Given the description of an element on the screen output the (x, y) to click on. 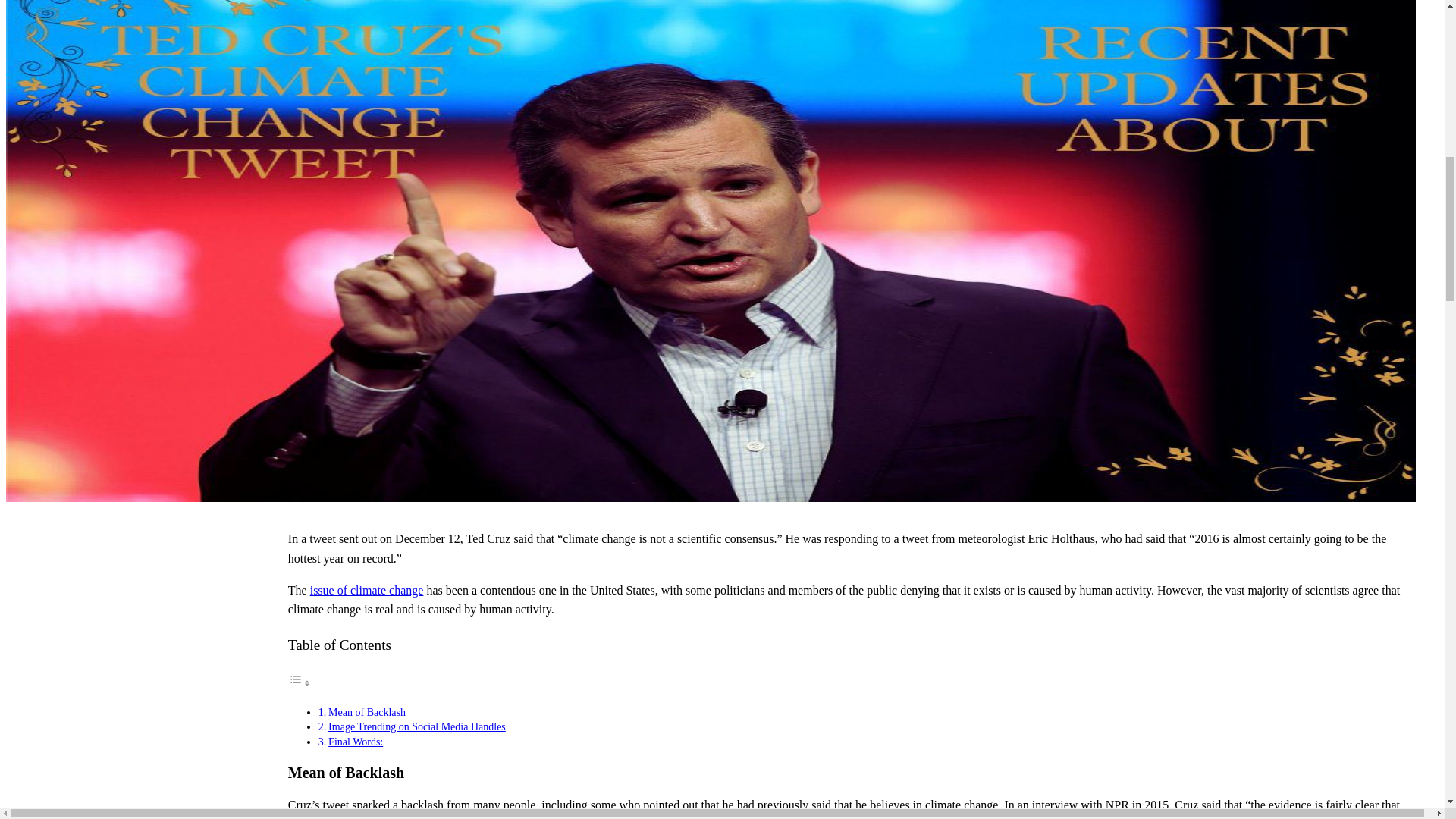
Image Trending on Social Media Handles (417, 726)
issue of climate change (366, 590)
Mean of Backlash (367, 712)
Final Words: (355, 741)
Final Words: (355, 741)
Mean of Backlash (367, 712)
Image Trending on Social Media Handles (417, 726)
